Given the description of an element on the screen output the (x, y) to click on. 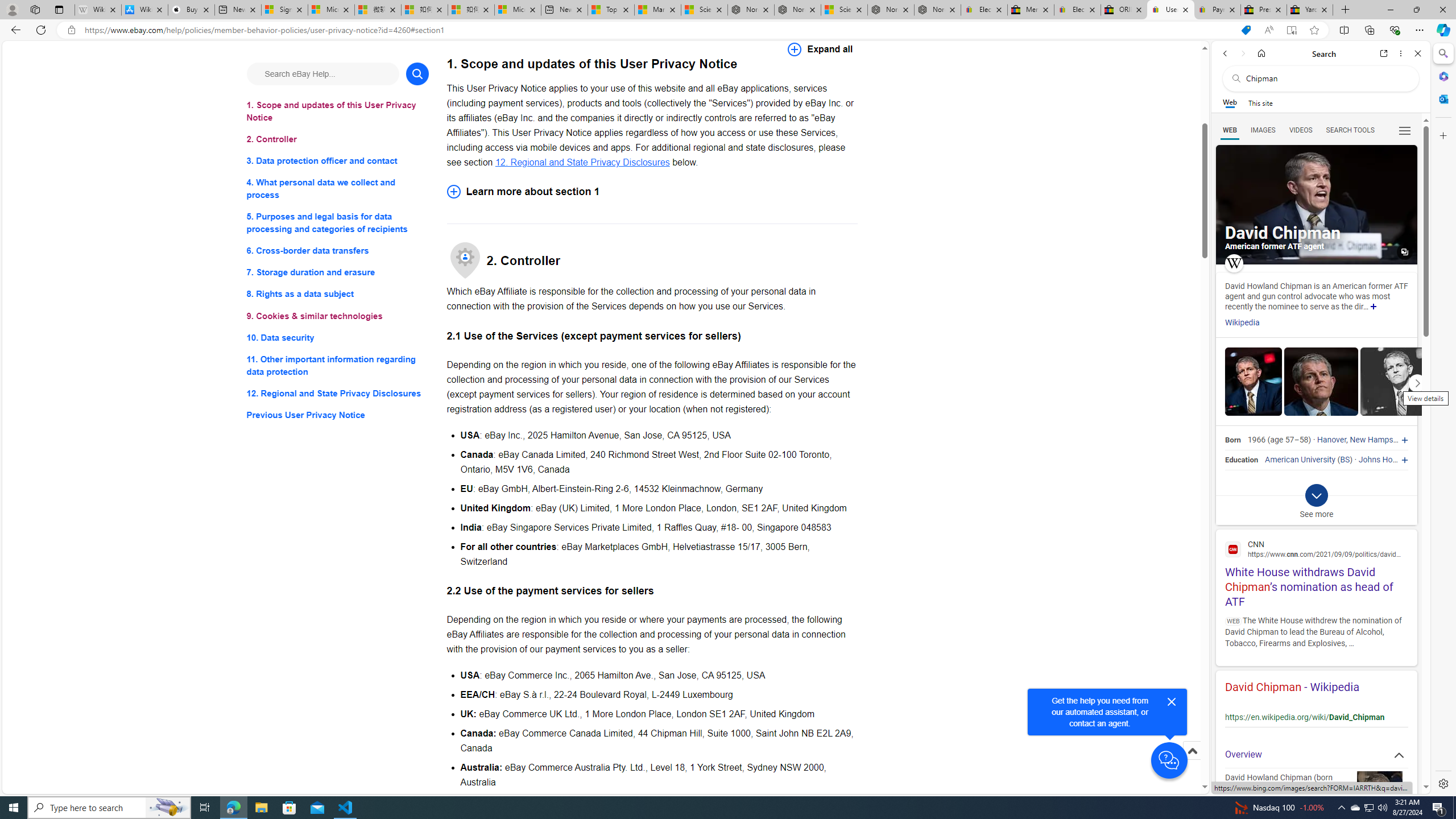
Previous User Privacy Notice (337, 414)
Scroll to top (1191, 762)
11. Other important information regarding data protection (337, 365)
6. Cross-border data transfers (337, 250)
